Given the description of an element on the screen output the (x, y) to click on. 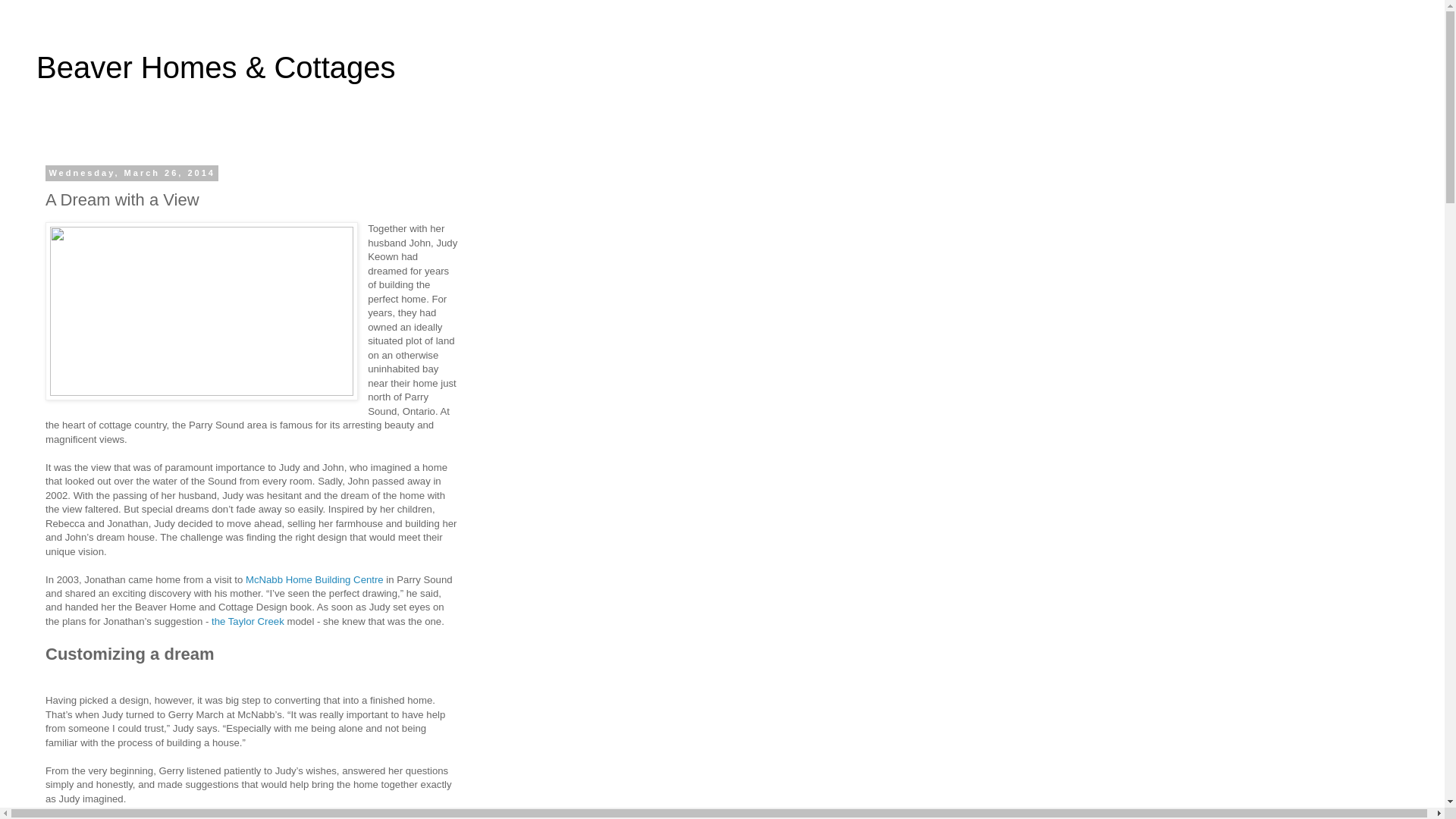
Beaver Homes & Cottages Element type: text (215, 67)
the Taylor Creek Element type: text (247, 621)
McNabb Home Building Centre Element type: text (314, 579)
